Given the description of an element on the screen output the (x, y) to click on. 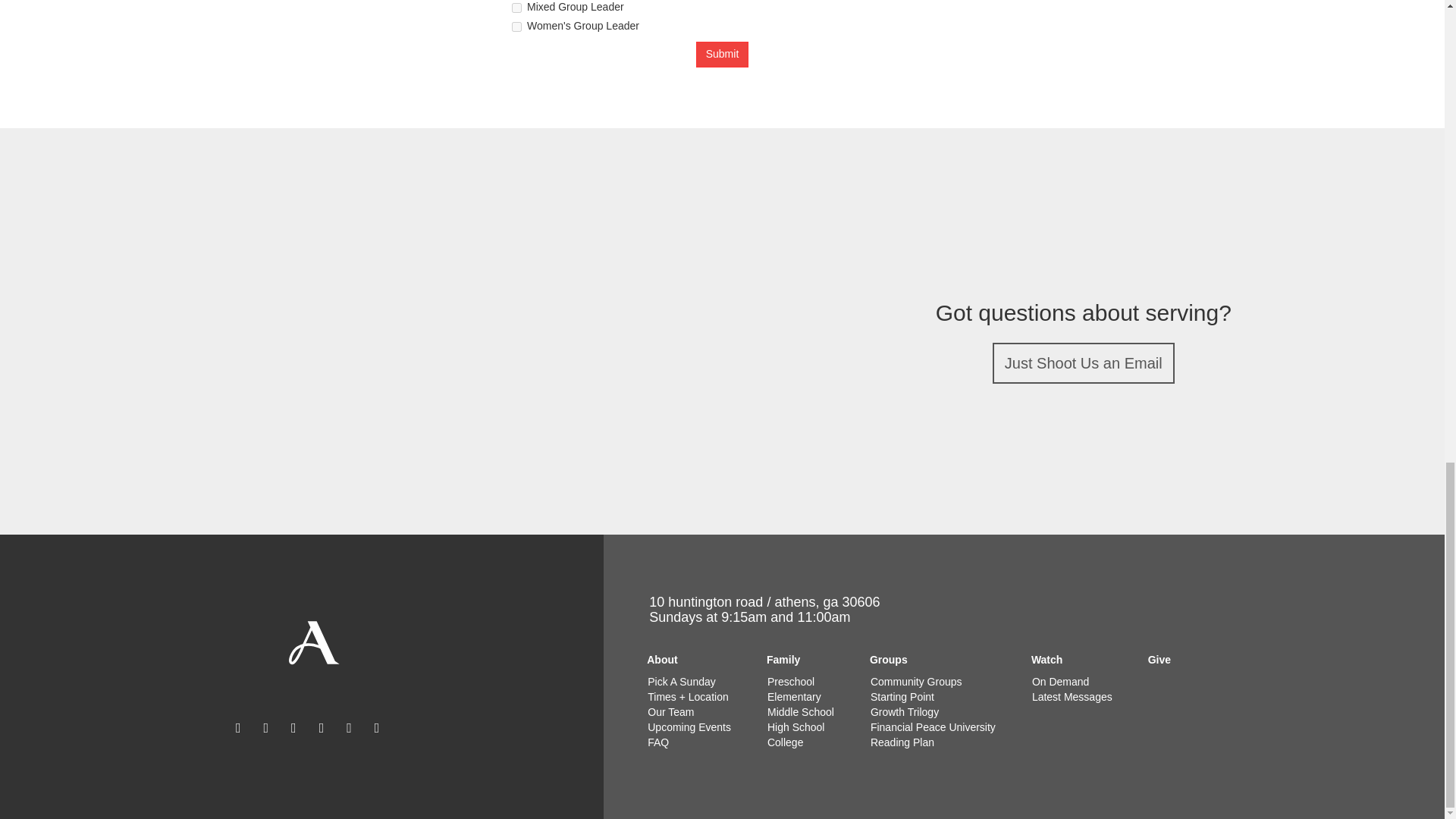
About (686, 653)
4 (516, 26)
Pick A Sunday (681, 681)
3 (516, 8)
Just Shoot Us an Email (1083, 363)
Submit (722, 54)
